Given the description of an element on the screen output the (x, y) to click on. 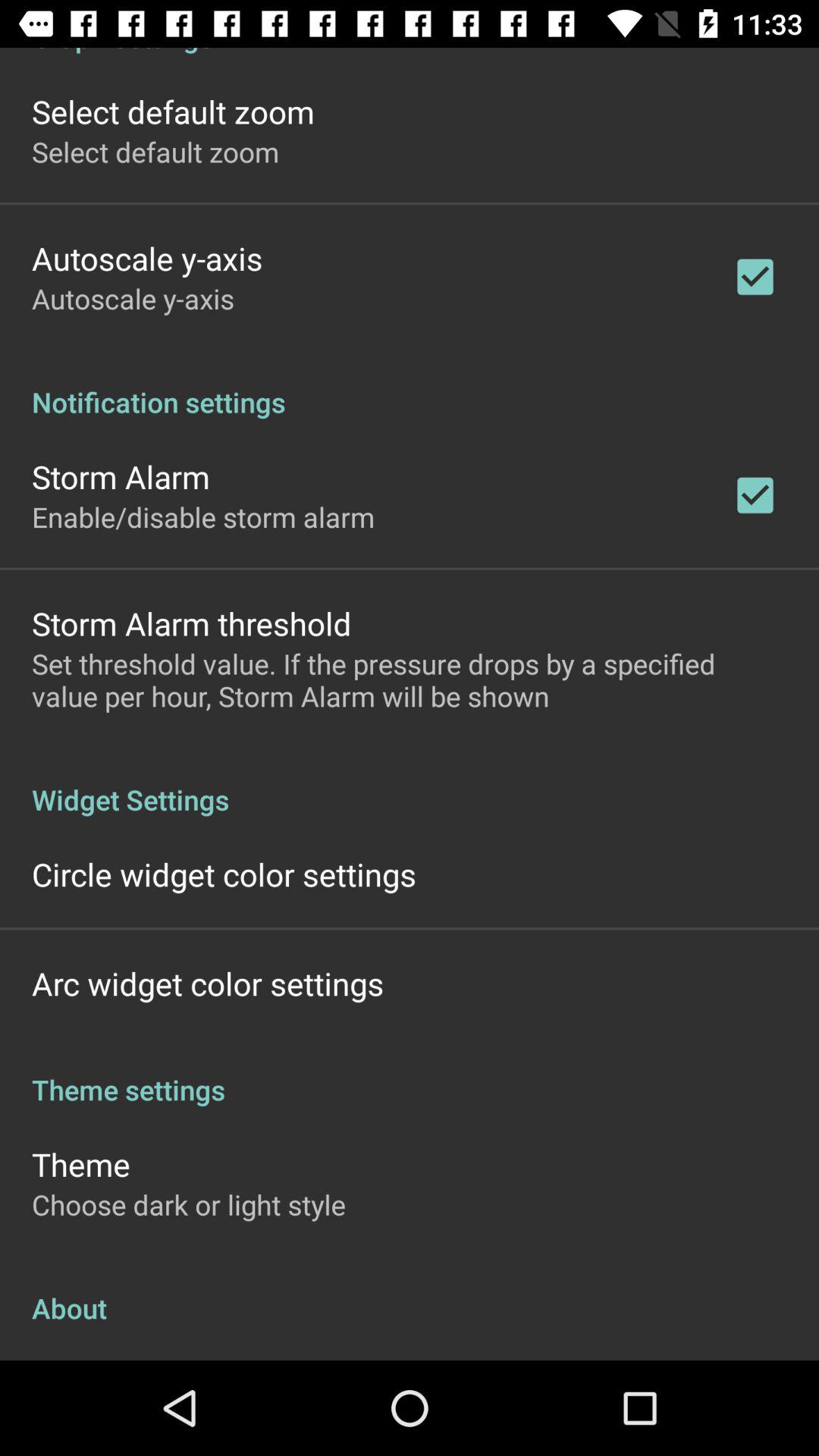
click set threshold value icon (409, 679)
